Given the description of an element on the screen output the (x, y) to click on. 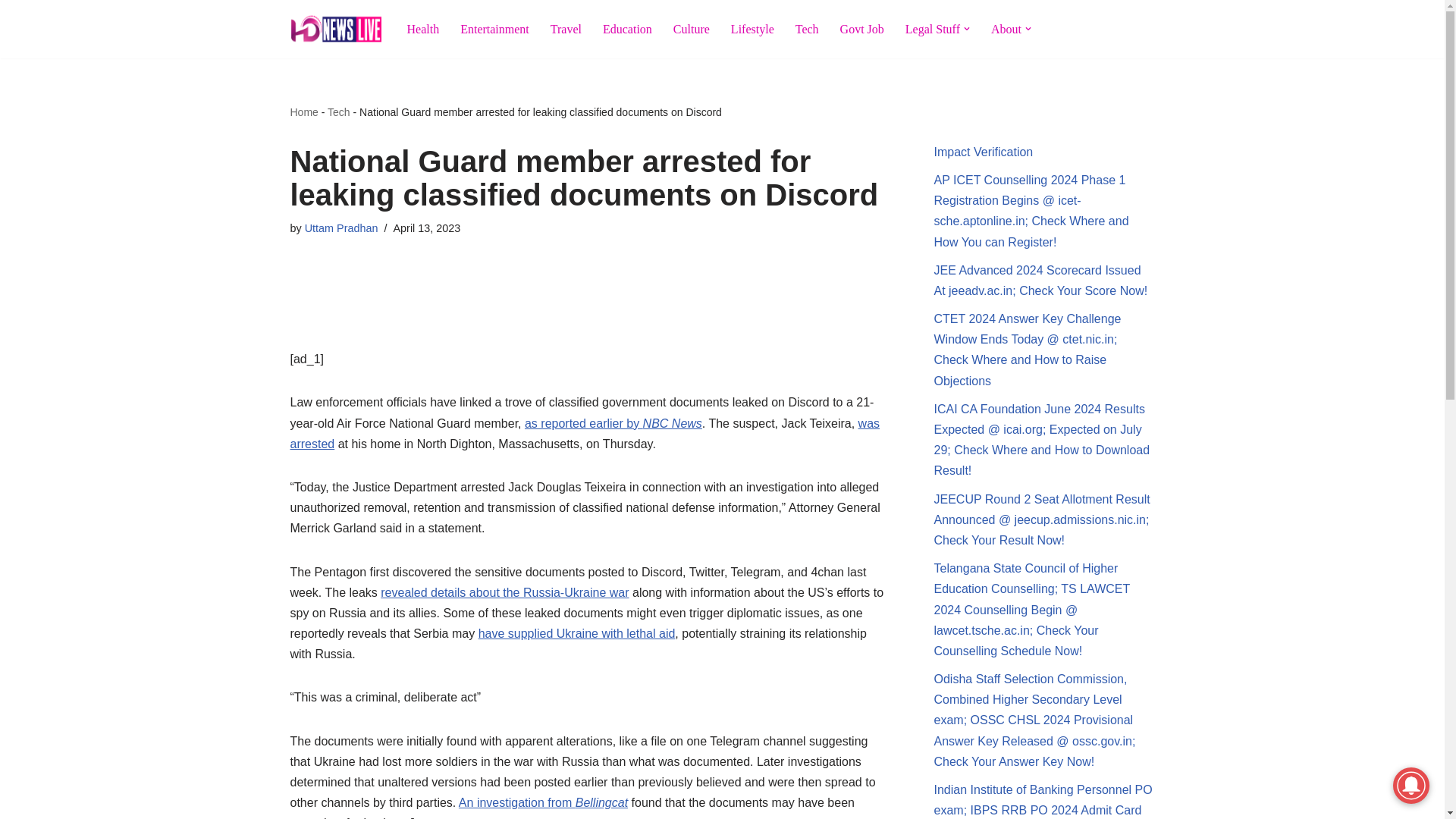
Posts by Uttam Pradhan (341, 227)
Tech (806, 28)
Govt Job (861, 28)
Education (627, 28)
Culture (691, 28)
Health (422, 28)
Home (303, 111)
Tech (338, 111)
Travel (565, 28)
About (1006, 28)
Skip to content (11, 31)
Legal Stuff (932, 28)
Lifestyle (752, 28)
Entertainment (494, 28)
